Given the description of an element on the screen output the (x, y) to click on. 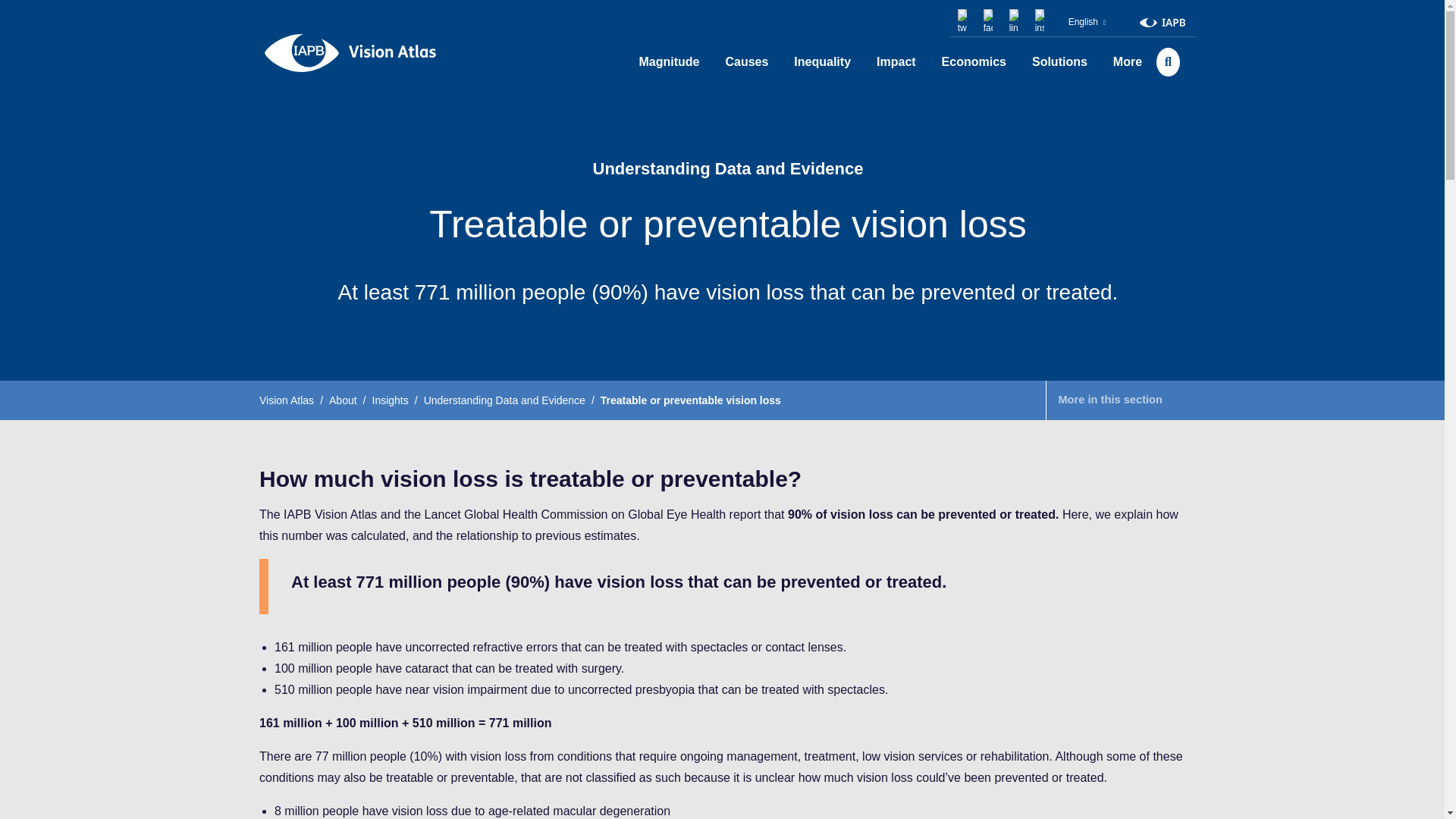
IAPB Home Page (1162, 21)
Magnitude (668, 61)
Causes (745, 61)
Vision Atlas Home Page (350, 51)
